Given the description of an element on the screen output the (x, y) to click on. 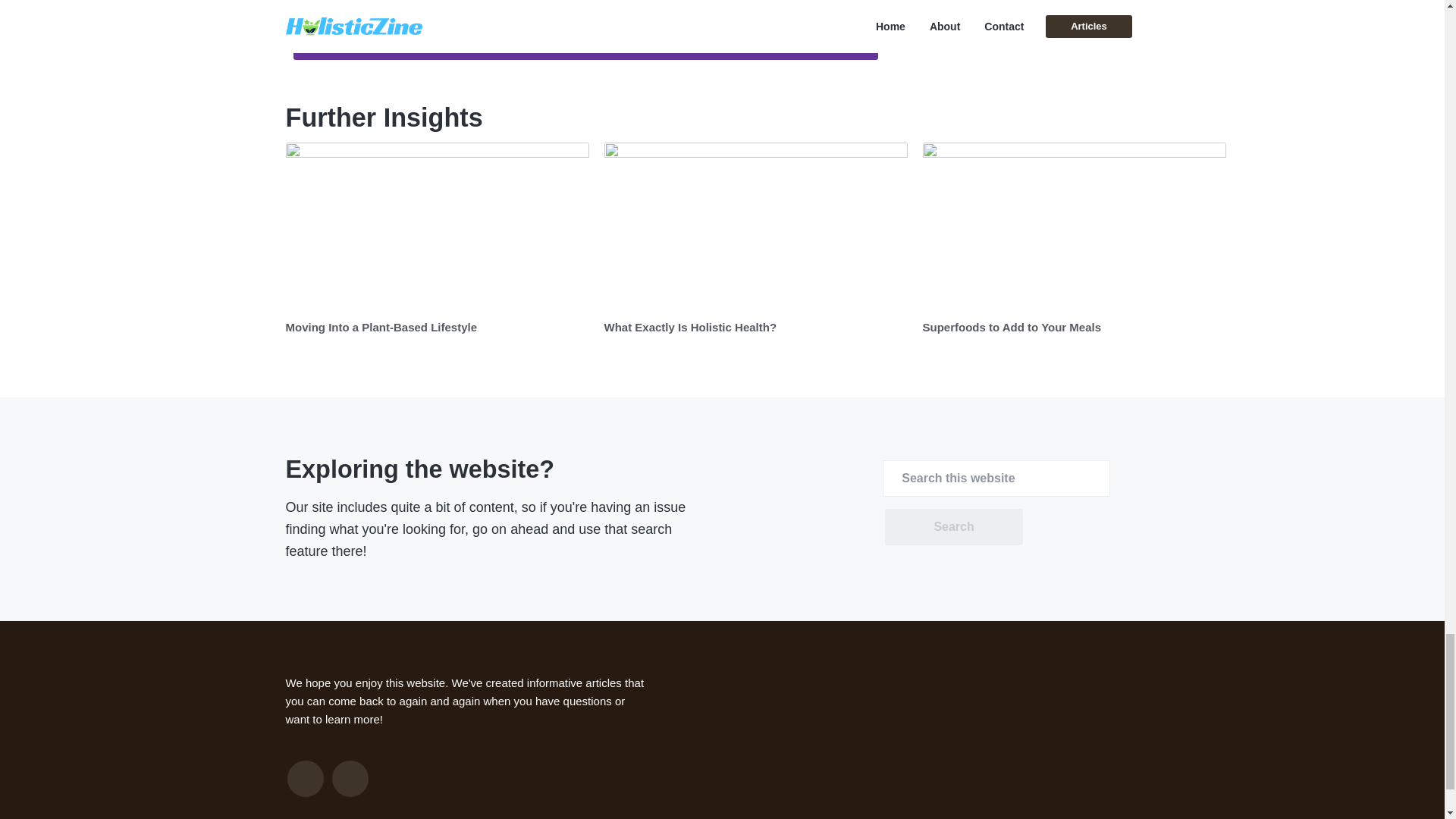
Permanent Link to Moving Into a Plant-Based Lifestyle (436, 226)
Permanent Link to What Exactly Is Holistic Health? (690, 327)
Permanent Link to Superfoods to Add to Your Meals (1073, 226)
Search (953, 526)
Permanent Link to What Exactly Is Holistic Health? (755, 226)
Search (953, 526)
Moving Into a Plant-Based Lifestyle (381, 327)
Superfoods to Add to Your Meals (1010, 327)
What Exactly Is Holistic Health? (690, 327)
Permanent Link to Superfoods to Add to Your Meals (1010, 327)
